Given the description of an element on the screen output the (x, y) to click on. 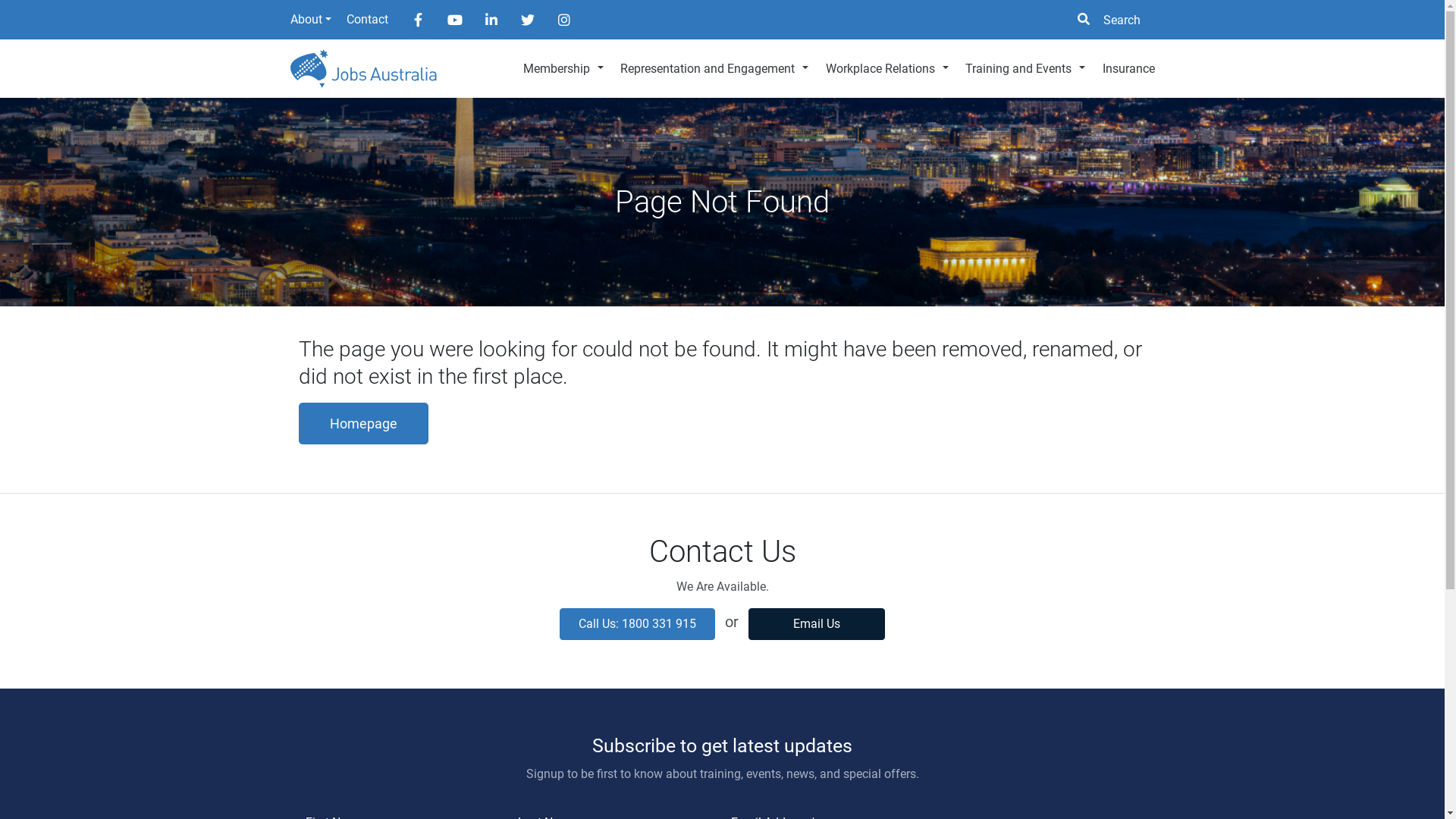
Contact Element type: text (367, 19)
About Element type: text (309, 19)
Workplace Relations Element type: text (887, 68)
Membership Element type: text (562, 68)
Homepage Element type: text (363, 423)
Training and Events Element type: text (1025, 68)
Email Us Element type: text (816, 624)
Representation and Engagement Element type: text (713, 68)
Insurance Element type: text (1123, 68)
Call Us: 1800 331 915 Element type: text (637, 624)
